Given the description of an element on the screen output the (x, y) to click on. 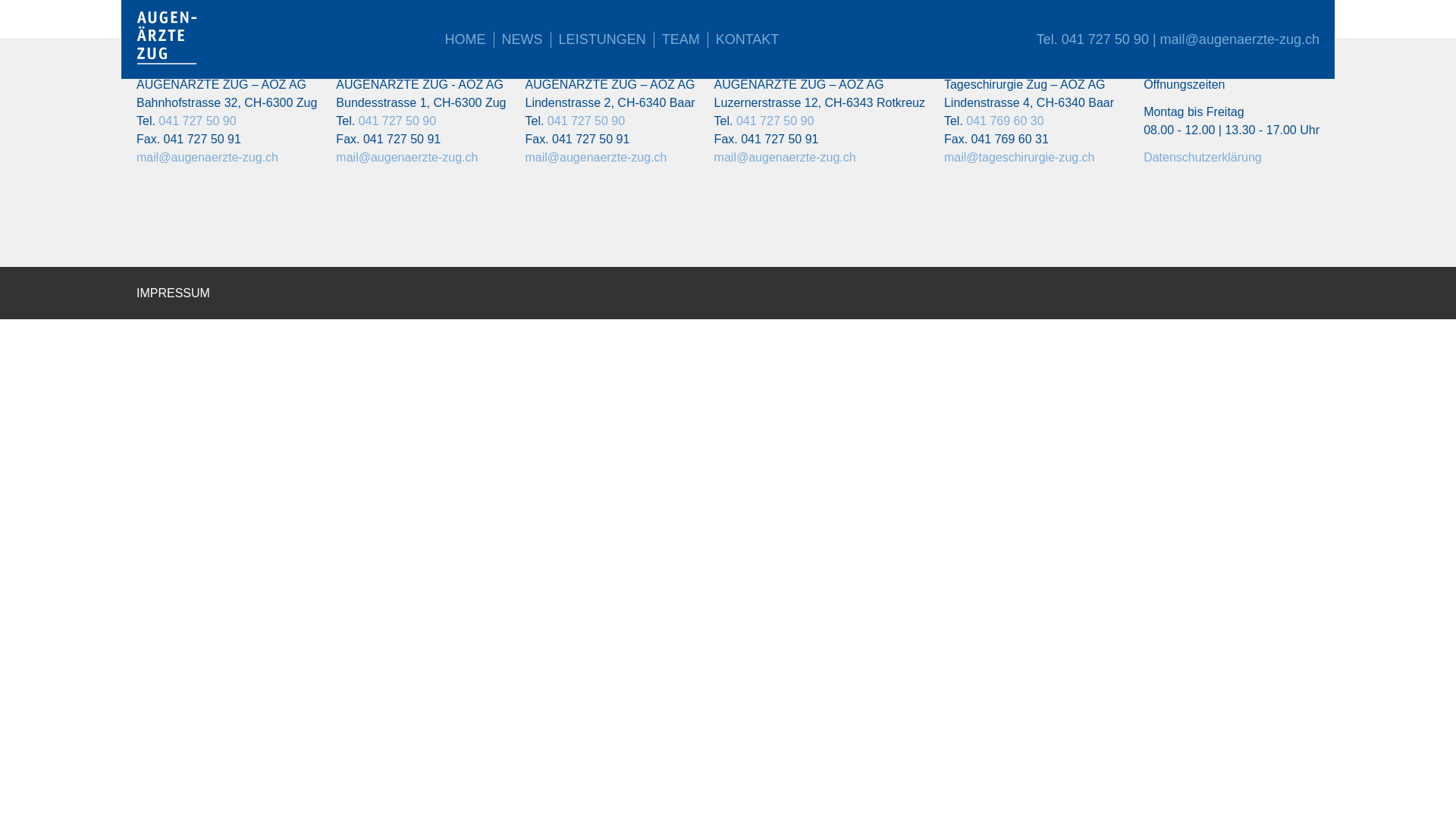
041 727 50 90 Element type: text (196, 120)
041 727 50 90 Element type: text (397, 120)
mail@tageschirurgie-zug.ch Element type: text (1019, 156)
LEISTUNGEN Element type: text (602, 39)
mail@augenaerzte-zug.ch Element type: text (207, 156)
IMPRESSUM Element type: text (173, 292)
mail@augenaerzte-zug.ch Element type: text (785, 156)
HOME Element type: text (465, 39)
041 769 60 30 Element type: text (1004, 120)
041 727 50 90 Element type: text (585, 120)
041 727 50 90 Element type: text (774, 120)
TEAM Element type: text (680, 39)
KONTAKT Element type: text (747, 39)
mail@augenaerzte-zug.ch Element type: text (1239, 39)
041 727 50 90 Element type: text (1104, 39)
mail@augenaerzte-zug.ch Element type: text (595, 156)
NEWS Element type: text (522, 39)
mail@augenaerzte-zug.ch Element type: text (406, 156)
